Given the description of an element on the screen output the (x, y) to click on. 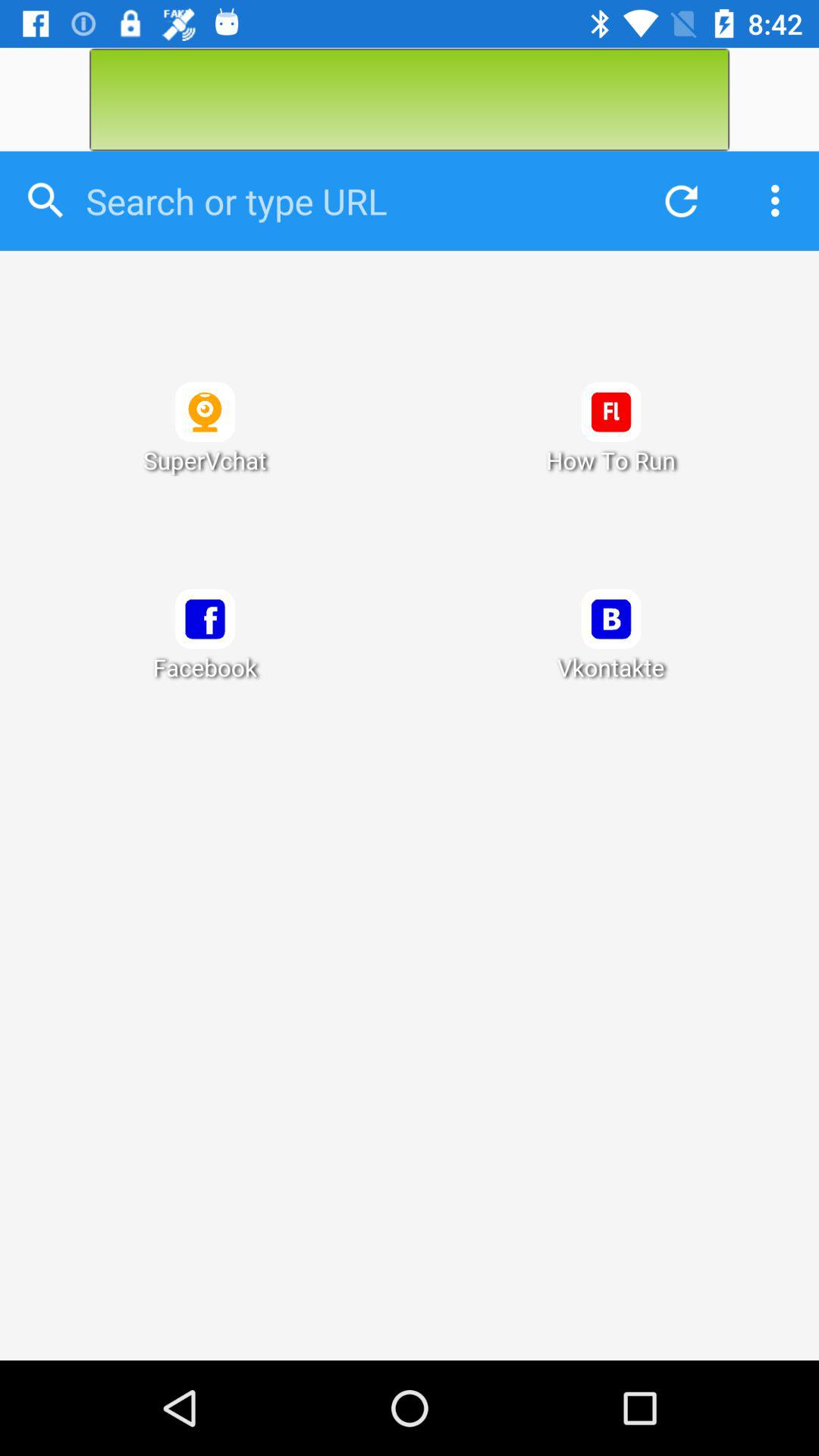
refresh (677, 200)
